Given the description of an element on the screen output the (x, y) to click on. 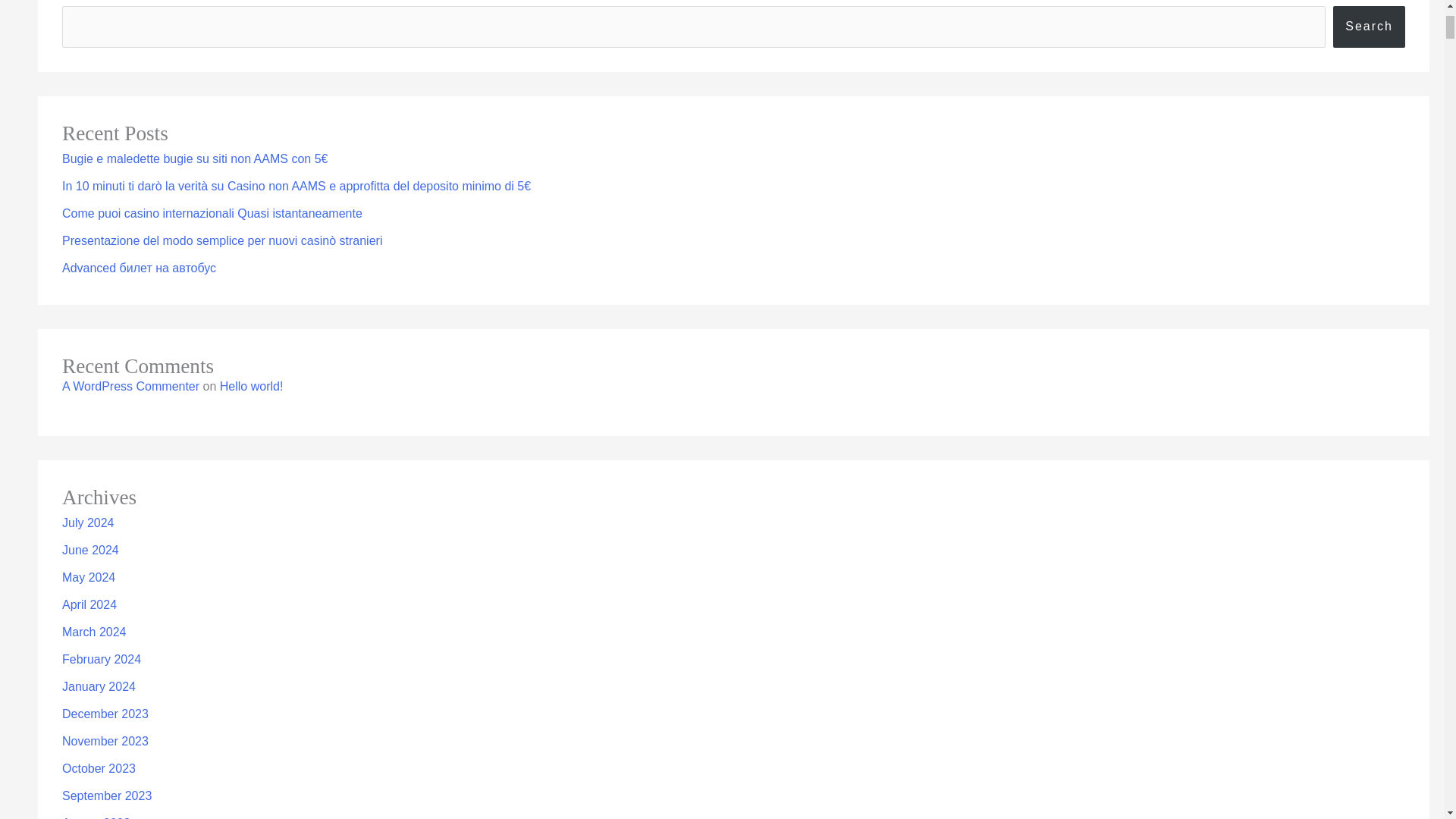
July 2024 (88, 522)
Search (1369, 25)
Hello world! (251, 386)
Come puoi casino internazionali Quasi istantaneamente (212, 213)
A WordPress Commenter (130, 386)
June 2024 (90, 549)
